Given the description of an element on the screen output the (x, y) to click on. 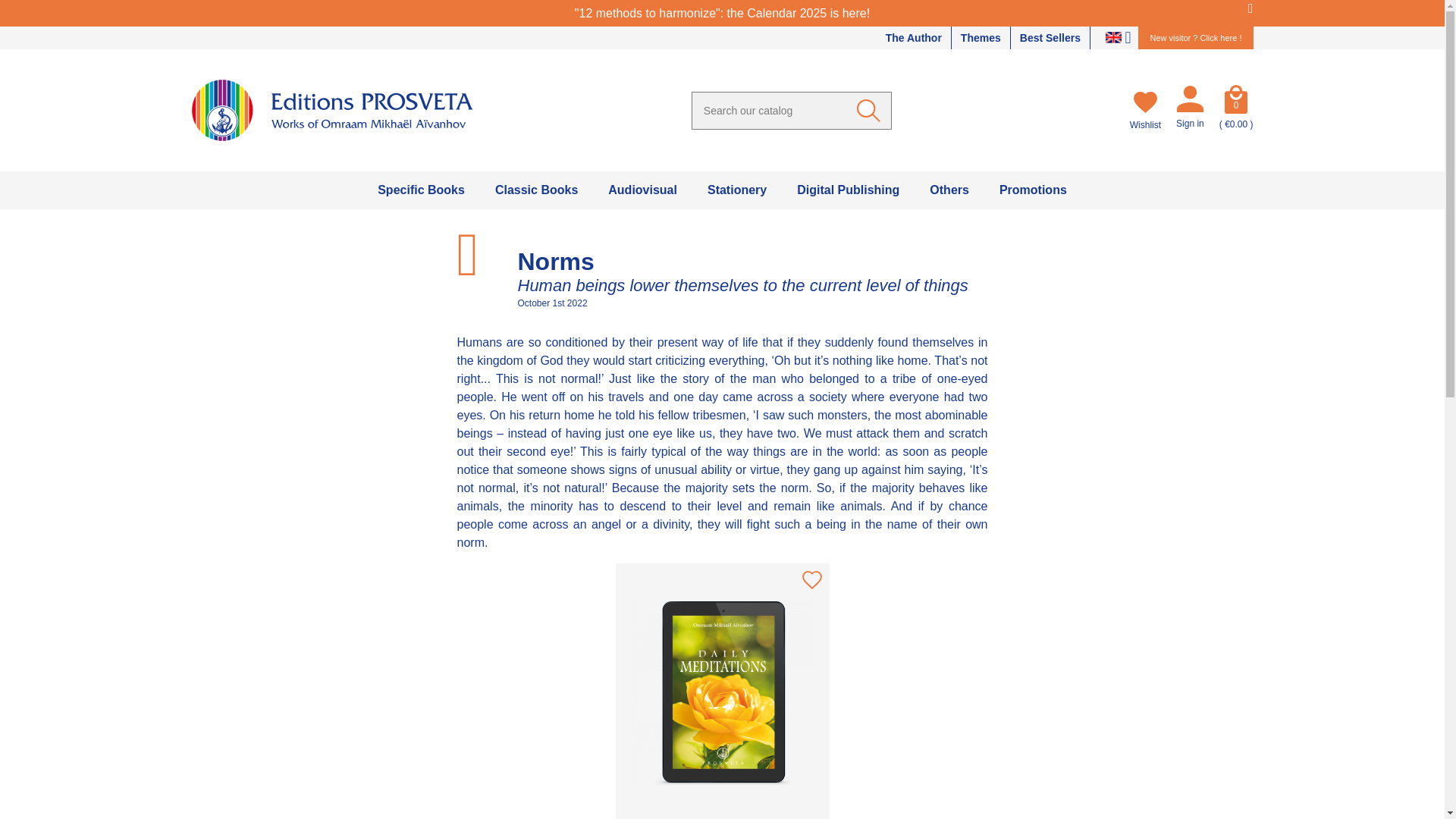
Specific Books (421, 190)
New visitor ? Click here ! (1195, 37)
The Author (913, 37)
Themes (981, 37)
"12 methods to harmonize": the Calendar 2025 is here! (722, 12)
Classic Books (536, 190)
Best Sellers (1049, 37)
